Given the description of an element on the screen output the (x, y) to click on. 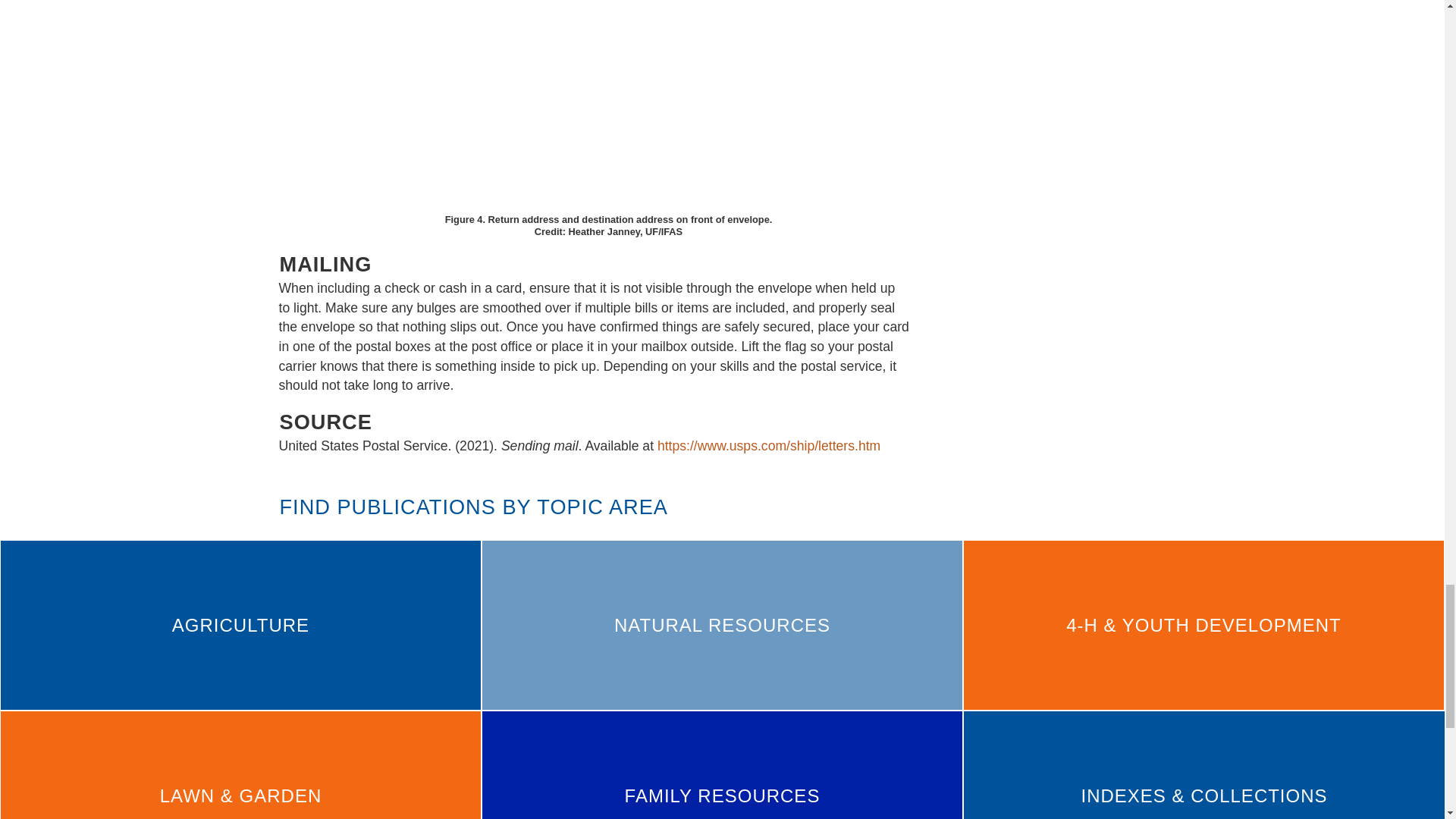
NATURAL RESOURCES (721, 625)
FAMILY RESOURCES (721, 765)
Figure 4 (607, 104)
AGRICULTURE (240, 625)
